Given the description of an element on the screen output the (x, y) to click on. 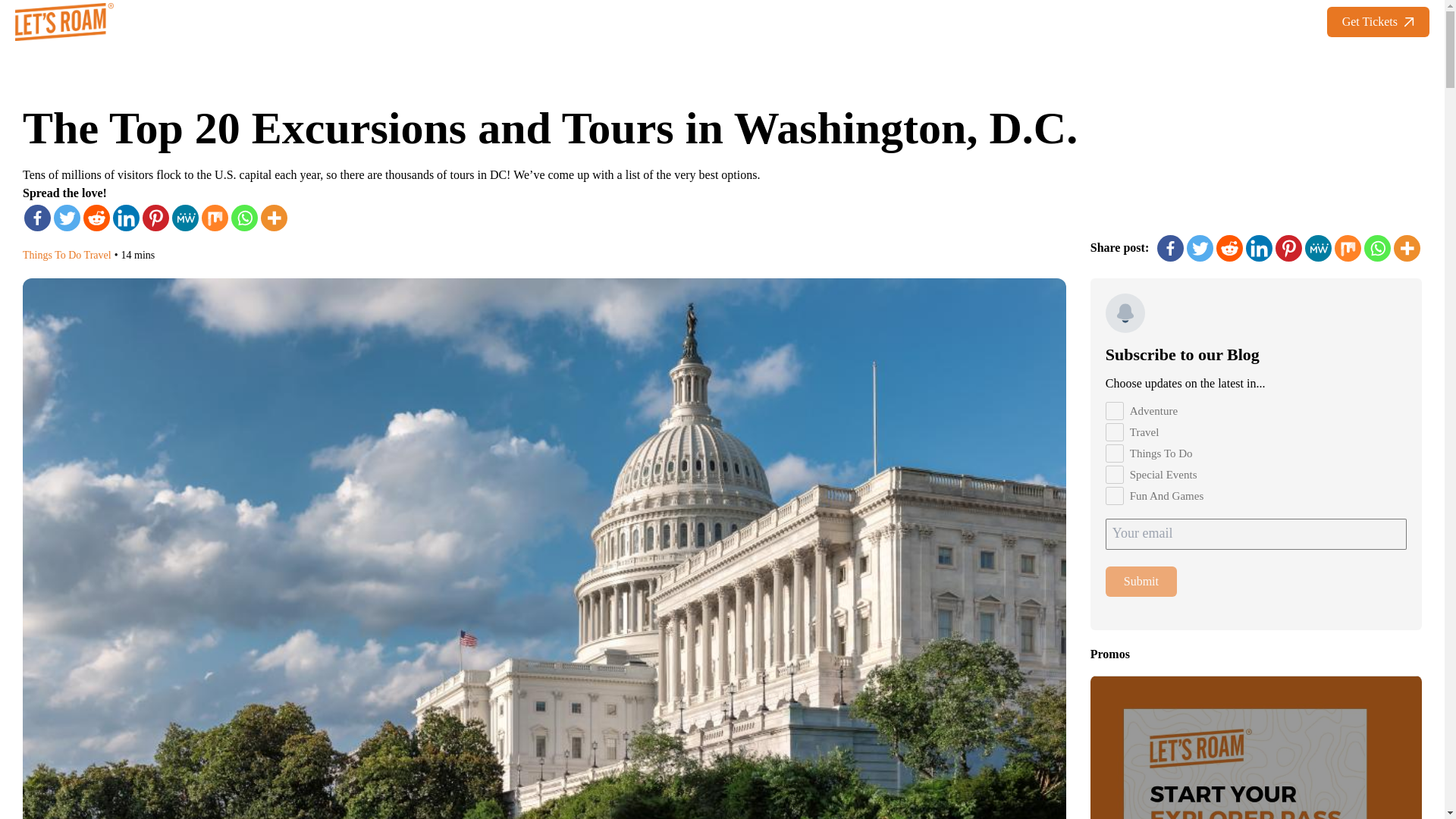
Travel (98, 255)
More (273, 217)
Linkedin (126, 217)
Whatsapp (244, 217)
MeWe (184, 217)
Things To Do (52, 255)
Facebook (37, 217)
Get Tickets (1377, 21)
Pinterest (155, 217)
Submit (1140, 580)
Special Events (1114, 475)
Twitter (66, 217)
Reddit (96, 217)
Fun And Games (1114, 495)
Things To Do (1114, 453)
